Given the description of an element on the screen output the (x, y) to click on. 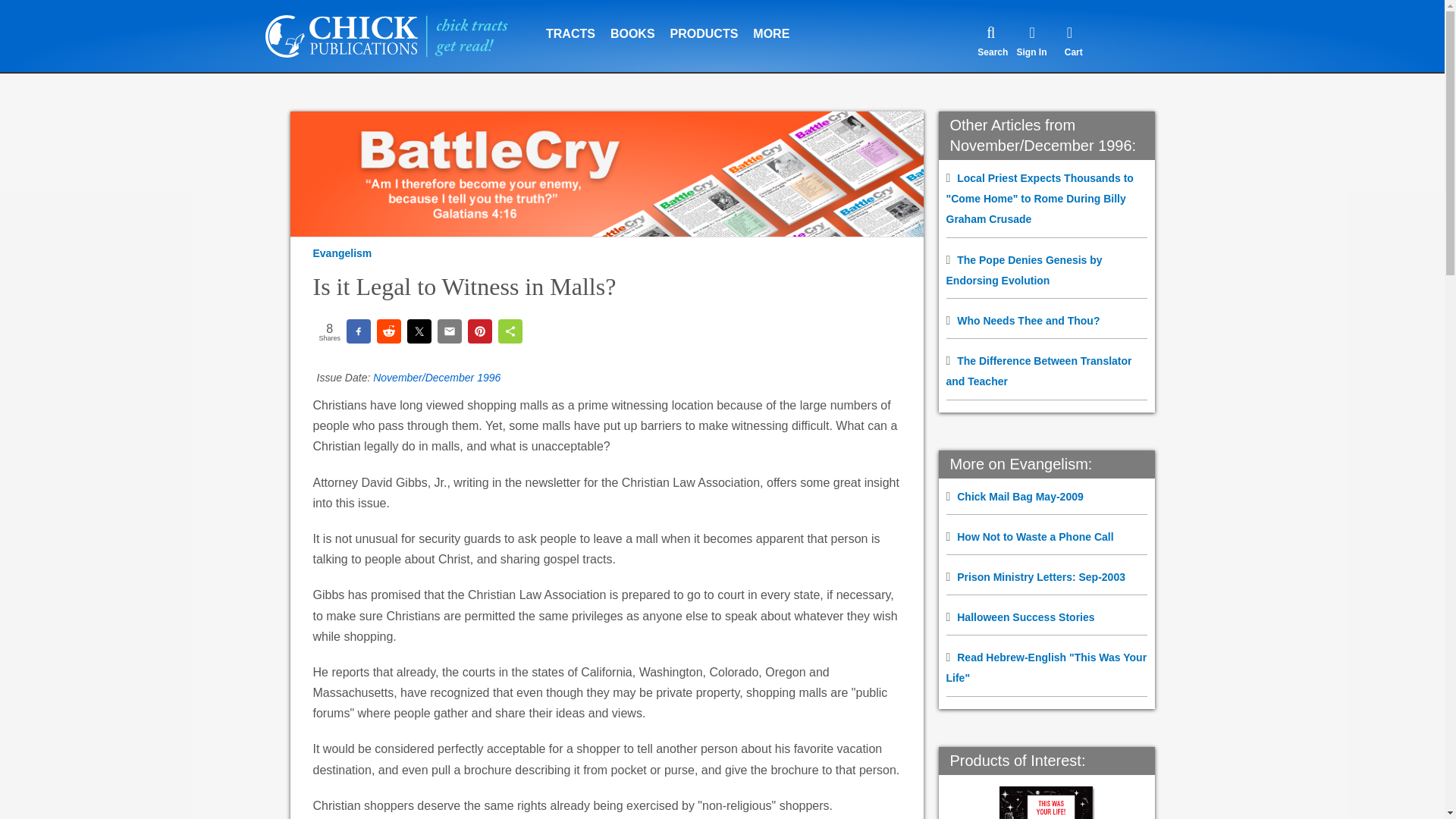
TRACTS (570, 24)
BOOKS (632, 24)
